Given the description of an element on the screen output the (x, y) to click on. 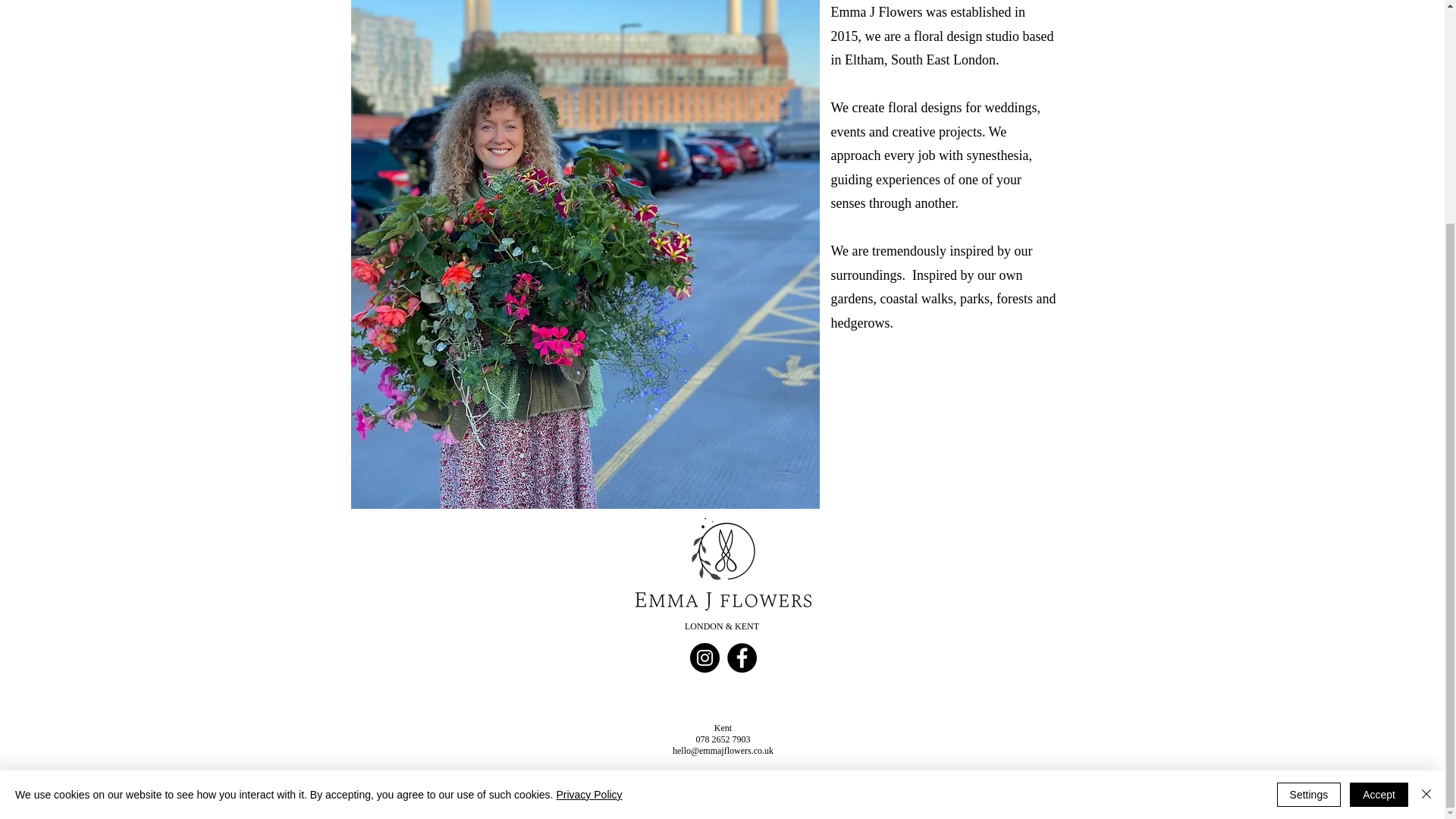
Accept (1378, 497)
Settings (1308, 497)
Privacy Policy (588, 497)
